Given the description of an element on the screen output the (x, y) to click on. 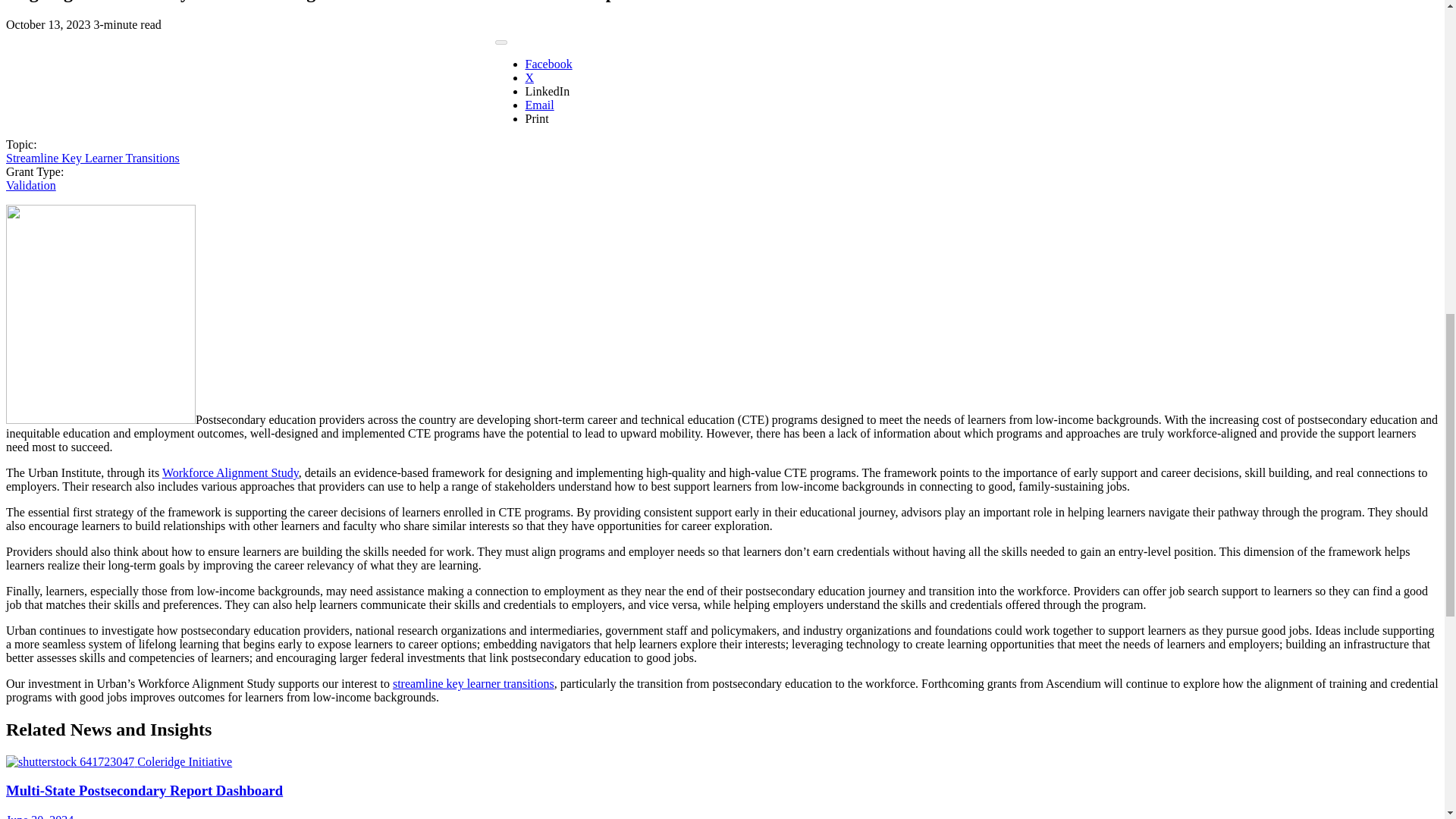
Facebook (548, 63)
LinkedIn (546, 91)
Print (536, 118)
streamline key learner transitions (473, 683)
Validation (30, 185)
Workforce Alignment Study (229, 472)
Streamline Key Learner Transitions (92, 157)
Email (538, 104)
